Given the description of an element on the screen output the (x, y) to click on. 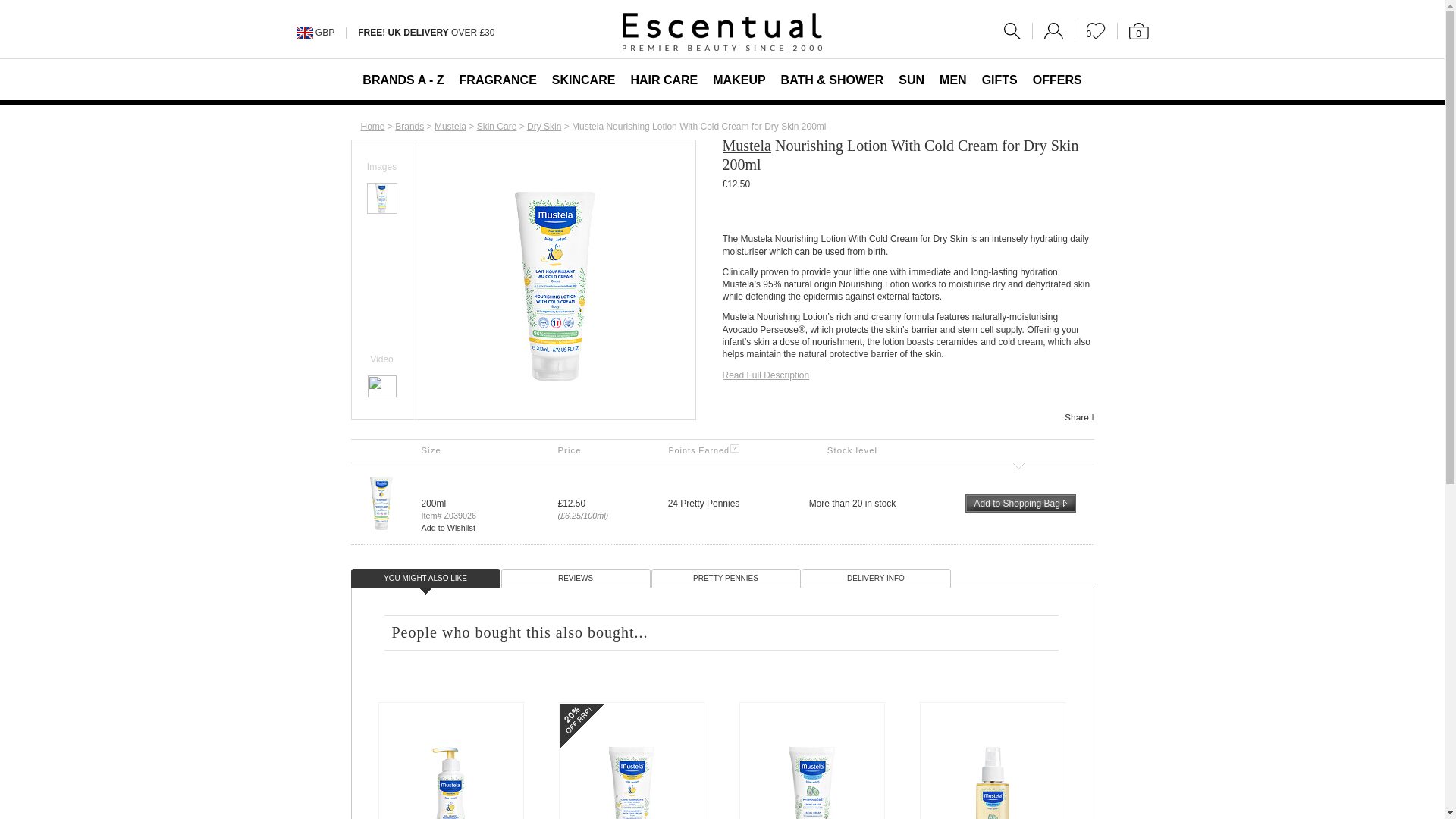
Go to Home Page (373, 126)
Escentual (722, 31)
Mustela Nourishing Lotion With Cold Cream for Dry Skin 200ml (381, 189)
BRANDS A - Z (403, 78)
Mustela Nourishing Cream With Cold Cream 40ml (631, 782)
Add to Shopping Bag (1019, 503)
Brands A - Z (408, 126)
0 (1095, 30)
0 (1133, 30)
